Given the description of an element on the screen output the (x, y) to click on. 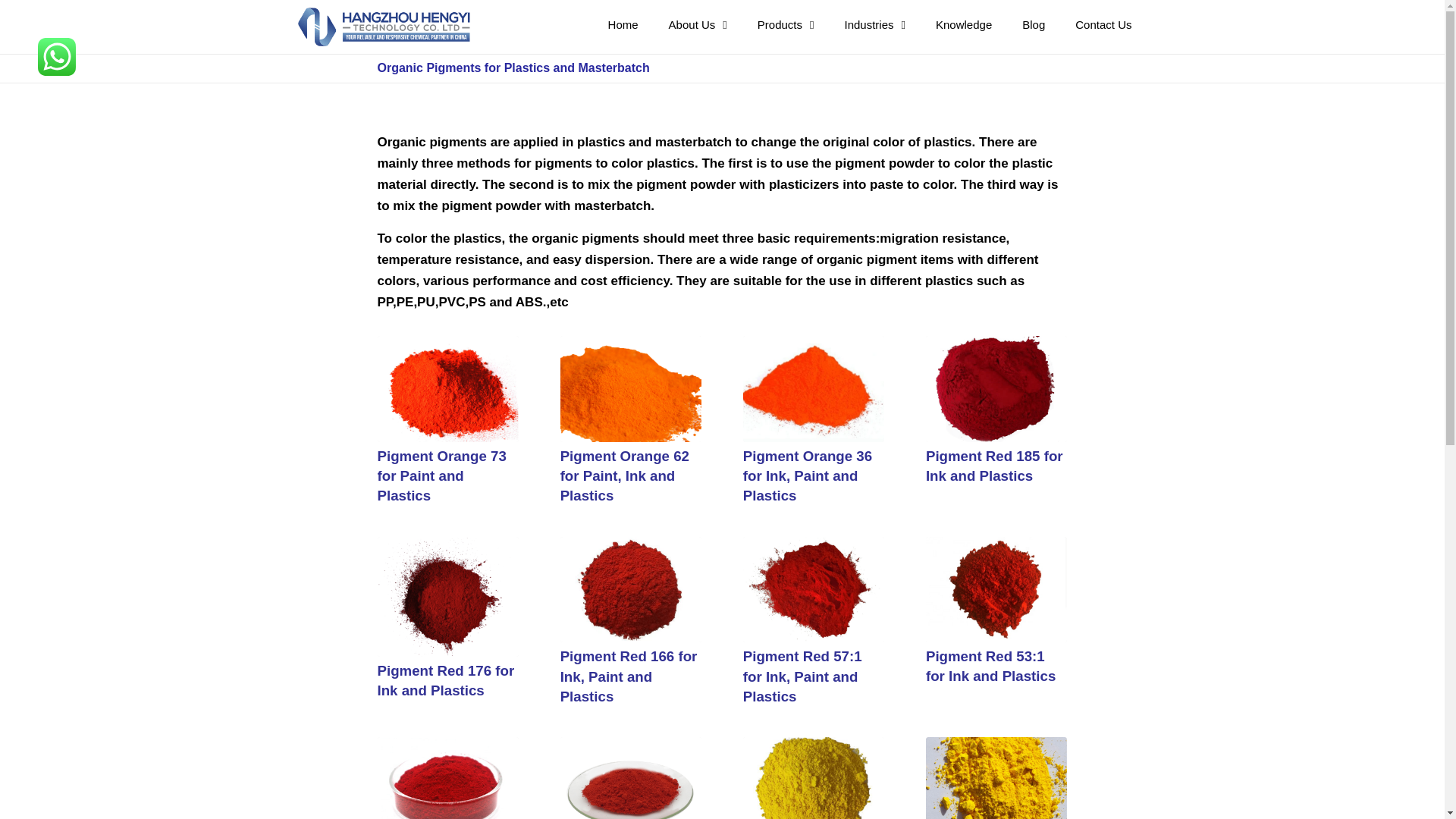
Pigment Red 185 for Ink and Plastics (996, 388)
Pigment Orange 62 for Paint, Ink and Plastics (624, 475)
Home (622, 24)
Pigment Orange 73 for Paint and Plastics (441, 475)
Pigment Red 57:1 for Ink, Paint and Plastics (801, 675)
Pigment Red 185 for Ink and Plastics (994, 465)
Pigment Red 166 for Ink, Paint and Plastics (628, 675)
Industries (874, 24)
Pigment Orange 36 for Ink, Paint and Plastics (807, 475)
Pigment Red 176 for Ink and Plastics (446, 680)
